Given the description of an element on the screen output the (x, y) to click on. 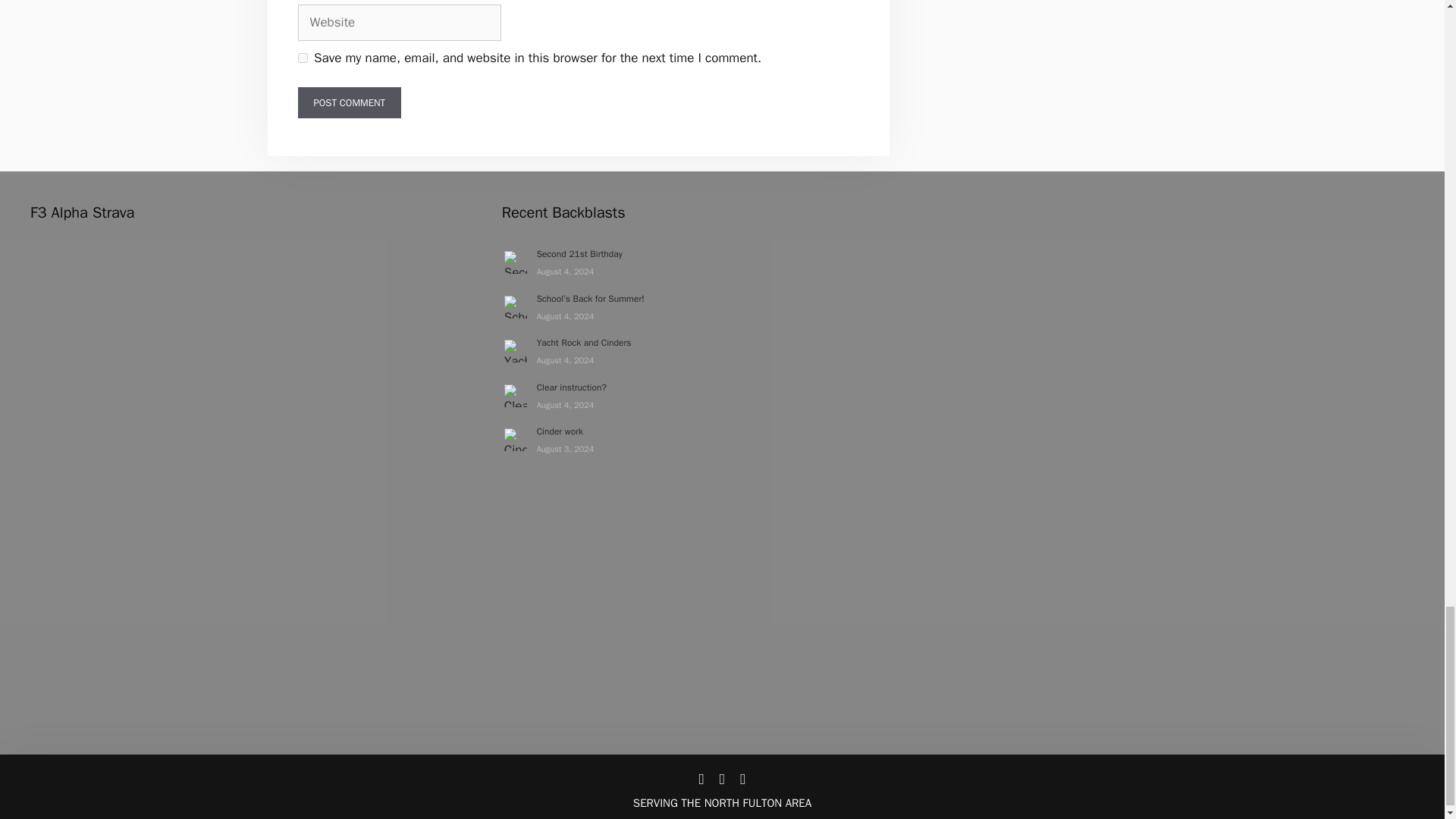
Post Comment (349, 102)
Post Comment (349, 102)
yes (302, 58)
